Given the description of an element on the screen output the (x, y) to click on. 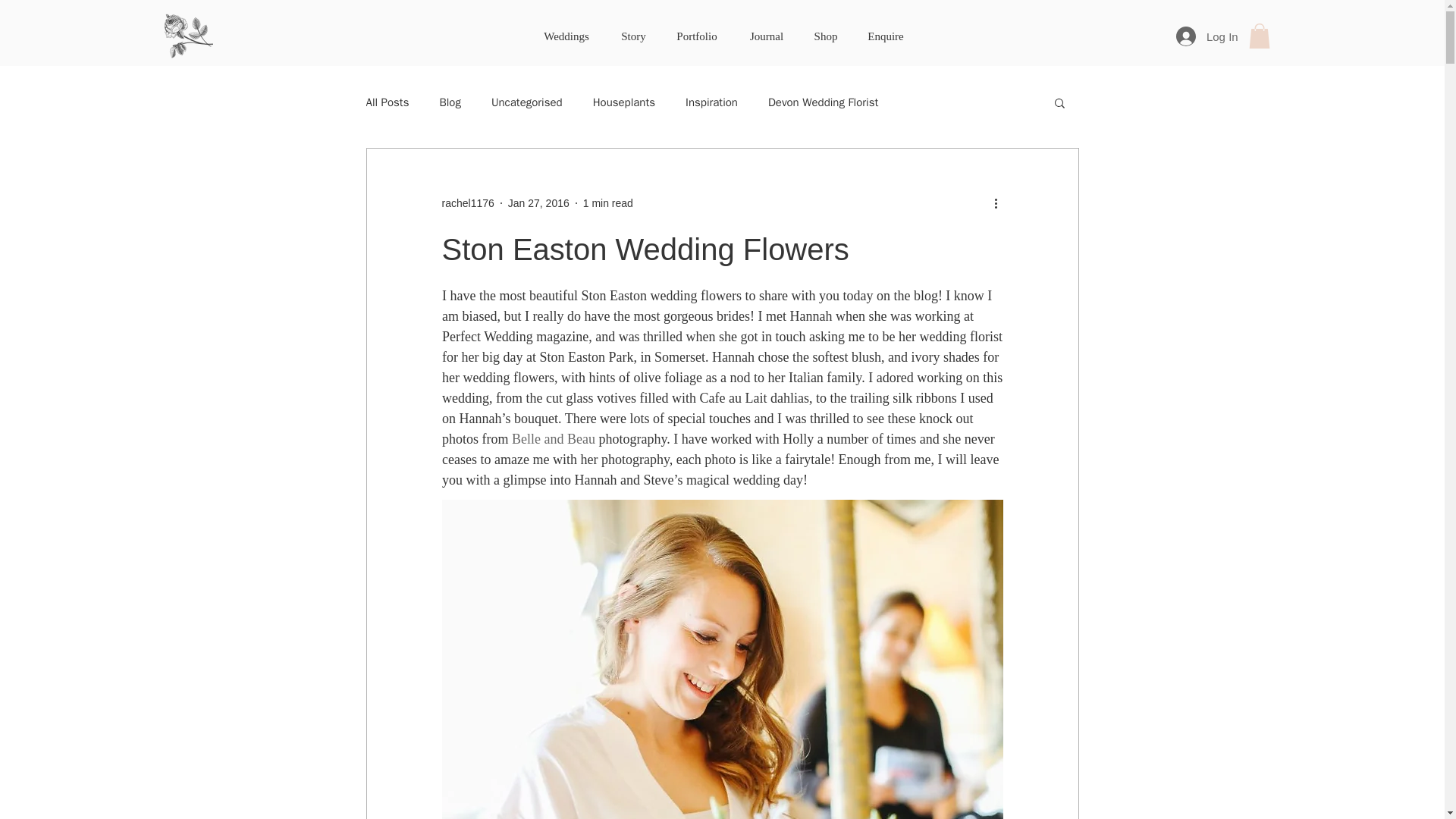
Shop (825, 36)
Blog (449, 102)
Devon Wedding Florist (822, 102)
Weddings (566, 36)
Portfolio (697, 36)
rachel1176 (467, 203)
All Posts (387, 102)
Enquire (885, 36)
rachel1176 (467, 203)
Story (634, 36)
Uncategorised (527, 102)
Inspiration (711, 102)
Belle and Beau  (553, 438)
Houseplants (623, 102)
Journal (766, 36)
